Given the description of an element on the screen output the (x, y) to click on. 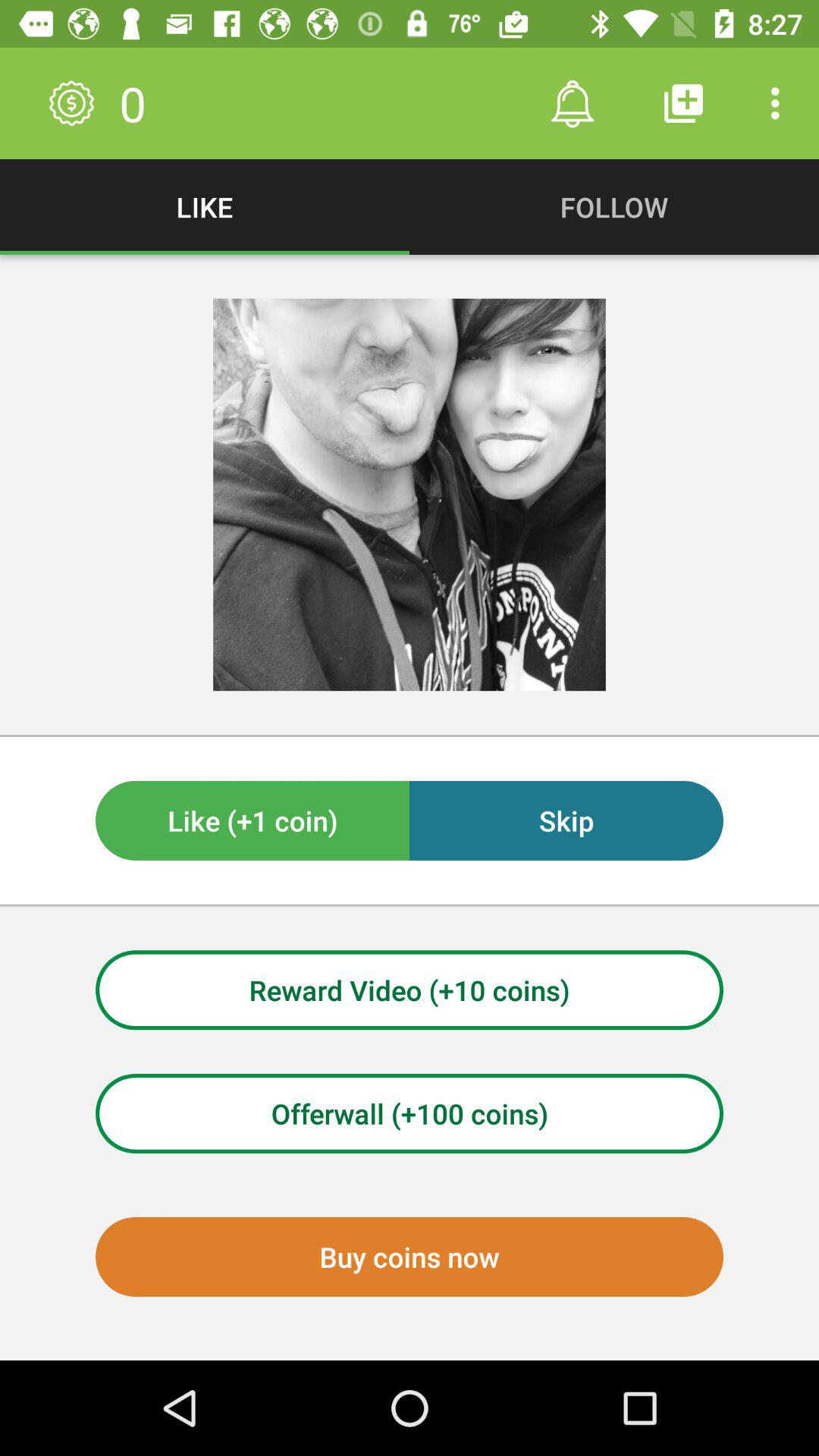
press skip (566, 820)
